Given the description of an element on the screen output the (x, y) to click on. 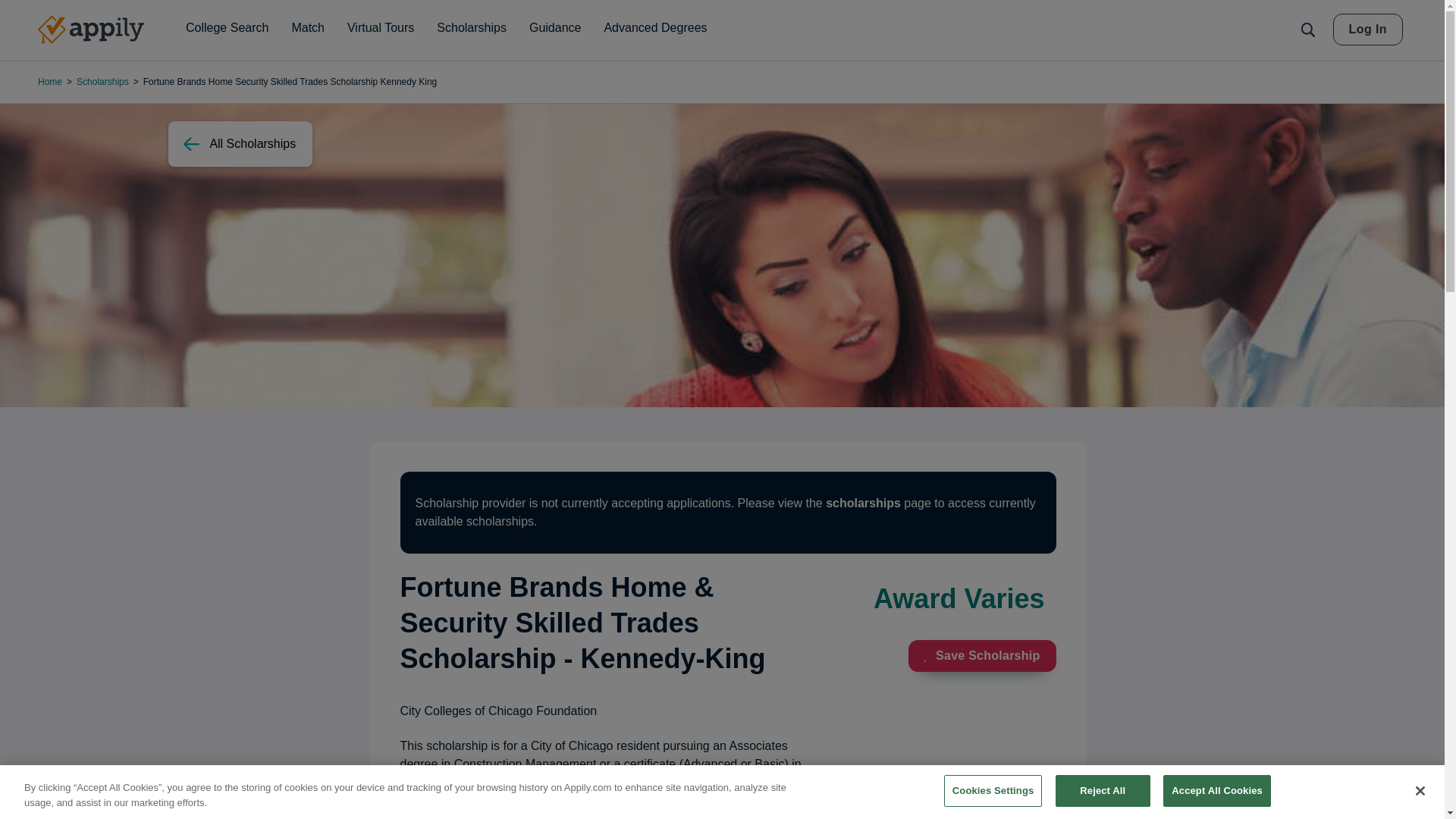
Home (90, 29)
Match (307, 28)
Virtual Tours (380, 28)
College Search (226, 28)
Scholarships (471, 28)
